Given the description of an element on the screen output the (x, y) to click on. 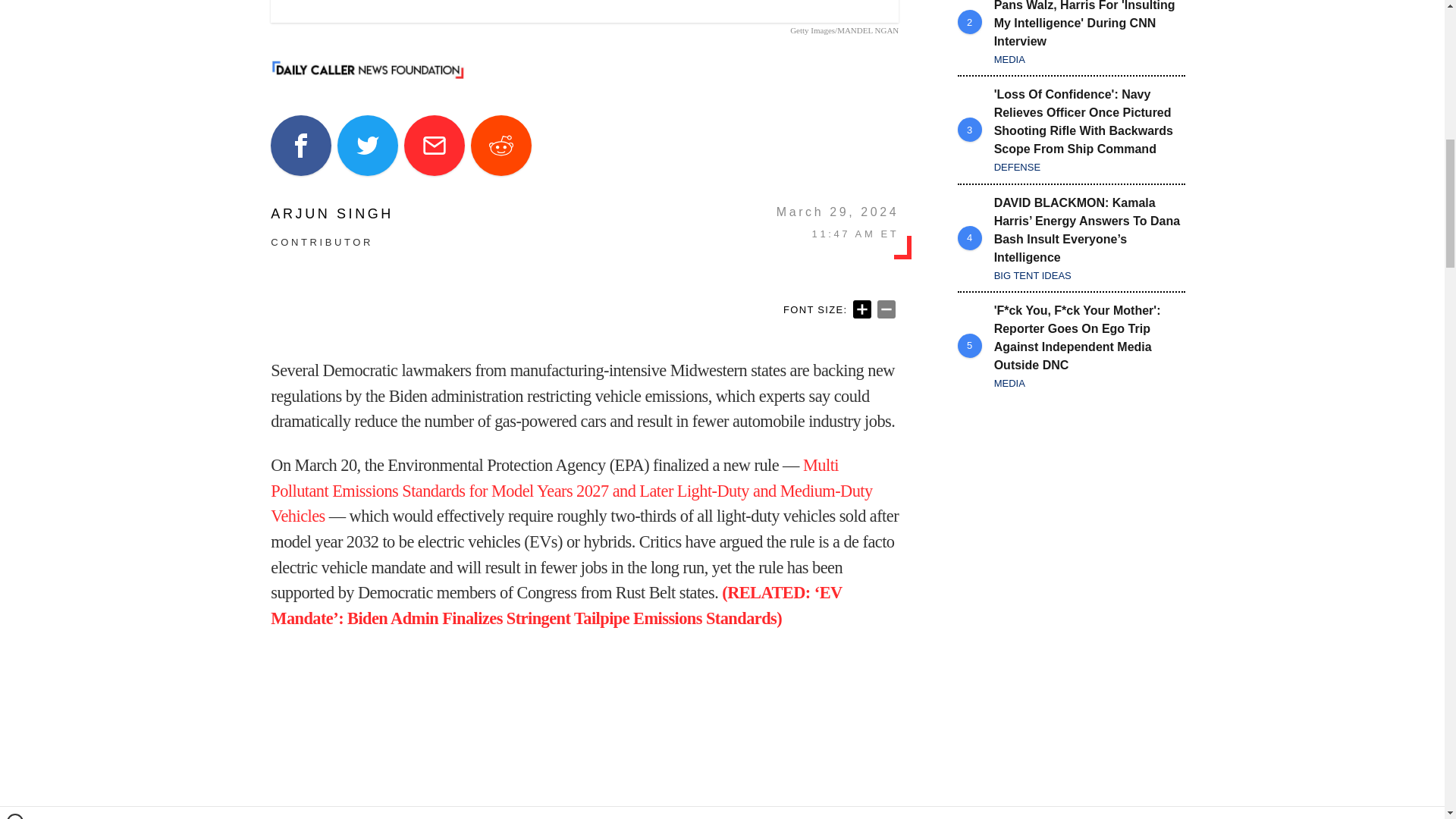
ARJUN SINGH (331, 213)
View More Articles By Arjun Singh (331, 213)
US-POLITICS-BIDEN-MANUFACTURING (584, 11)
Close window (14, 6)
